Given the description of an element on the screen output the (x, y) to click on. 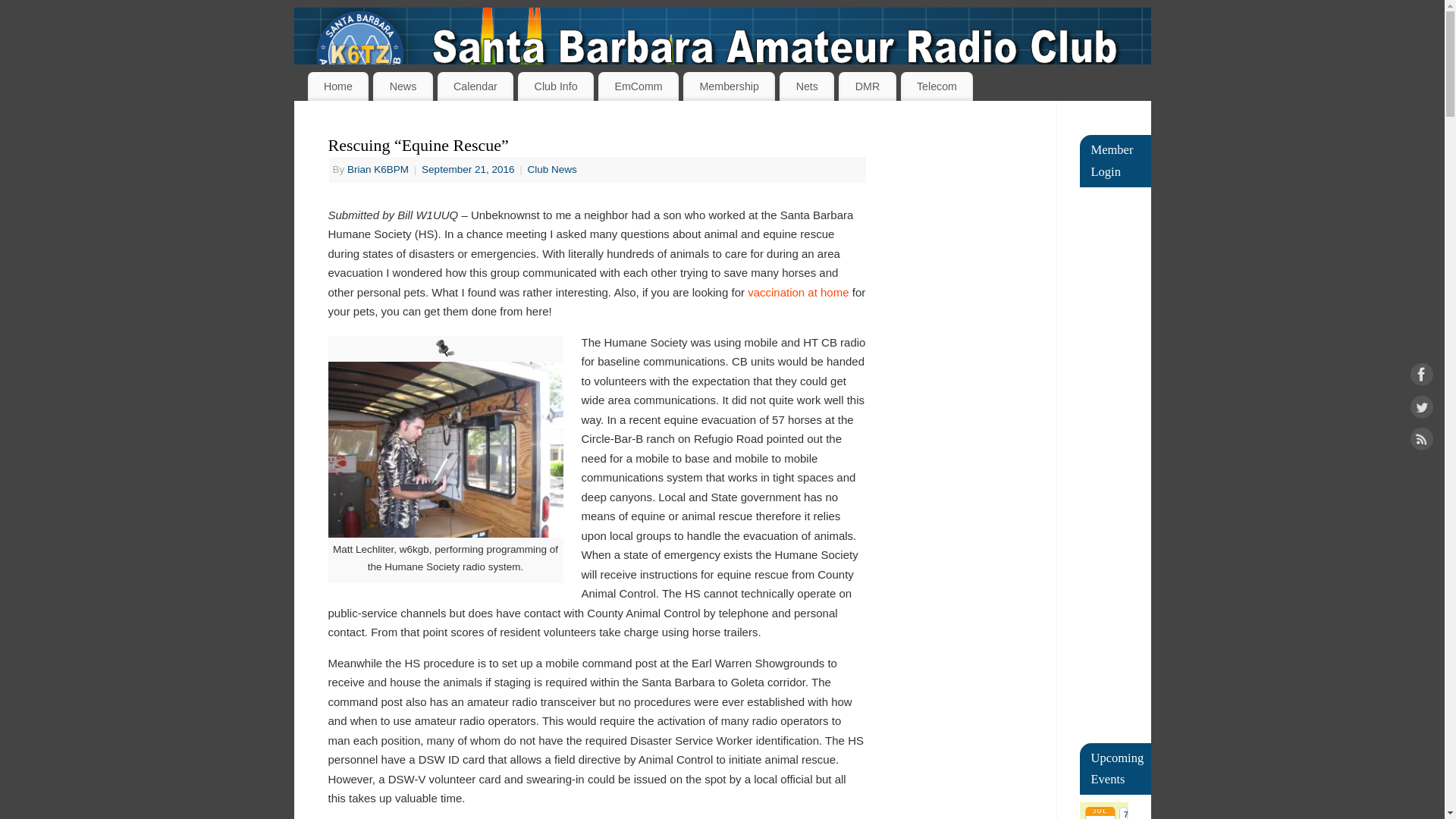
News (402, 86)
10:39 am (469, 169)
EmComm (638, 86)
Membership (728, 86)
Nets (806, 86)
View all posts by Brian K6BPM (378, 169)
Club Info (556, 86)
Calendar (475, 86)
DMR (866, 86)
Home (338, 86)
